Given the description of an element on the screen output the (x, y) to click on. 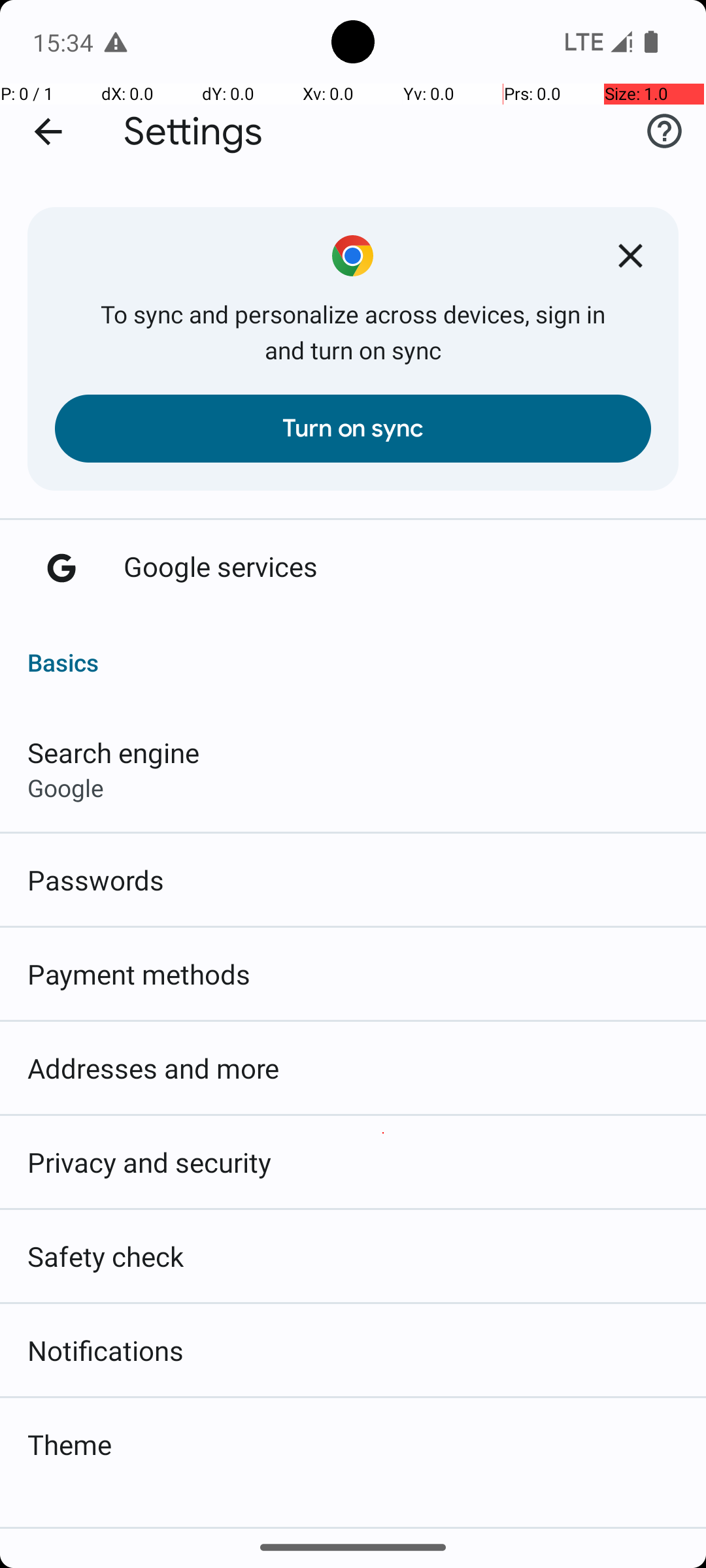
Help & feedback Element type: android.widget.Button (664, 131)
Basics Element type: android.widget.TextView (353, 648)
Advanced Element type: android.widget.TextView (353, 1509)
Close Element type: android.widget.ImageButton (629, 255)
To sync and personalize across devices, sign in and turn on sync Element type: android.widget.TextView (352, 331)
Turn on sync Element type: android.widget.Button (352, 428)
Google services Element type: android.widget.TextView (220, 565)
Search engine Element type: android.widget.TextView (113, 751)
Google Element type: android.widget.TextView (65, 787)
Passwords Element type: android.widget.TextView (95, 879)
Payment methods Element type: android.widget.TextView (139, 973)
Addresses and more Element type: android.widget.TextView (153, 1067)
Privacy and security Element type: android.widget.TextView (149, 1161)
Safety check Element type: android.widget.TextView (105, 1255)
Notifications Element type: android.widget.TextView (105, 1349)
Theme Element type: android.widget.TextView (69, 1443)
